Given the description of an element on the screen output the (x, y) to click on. 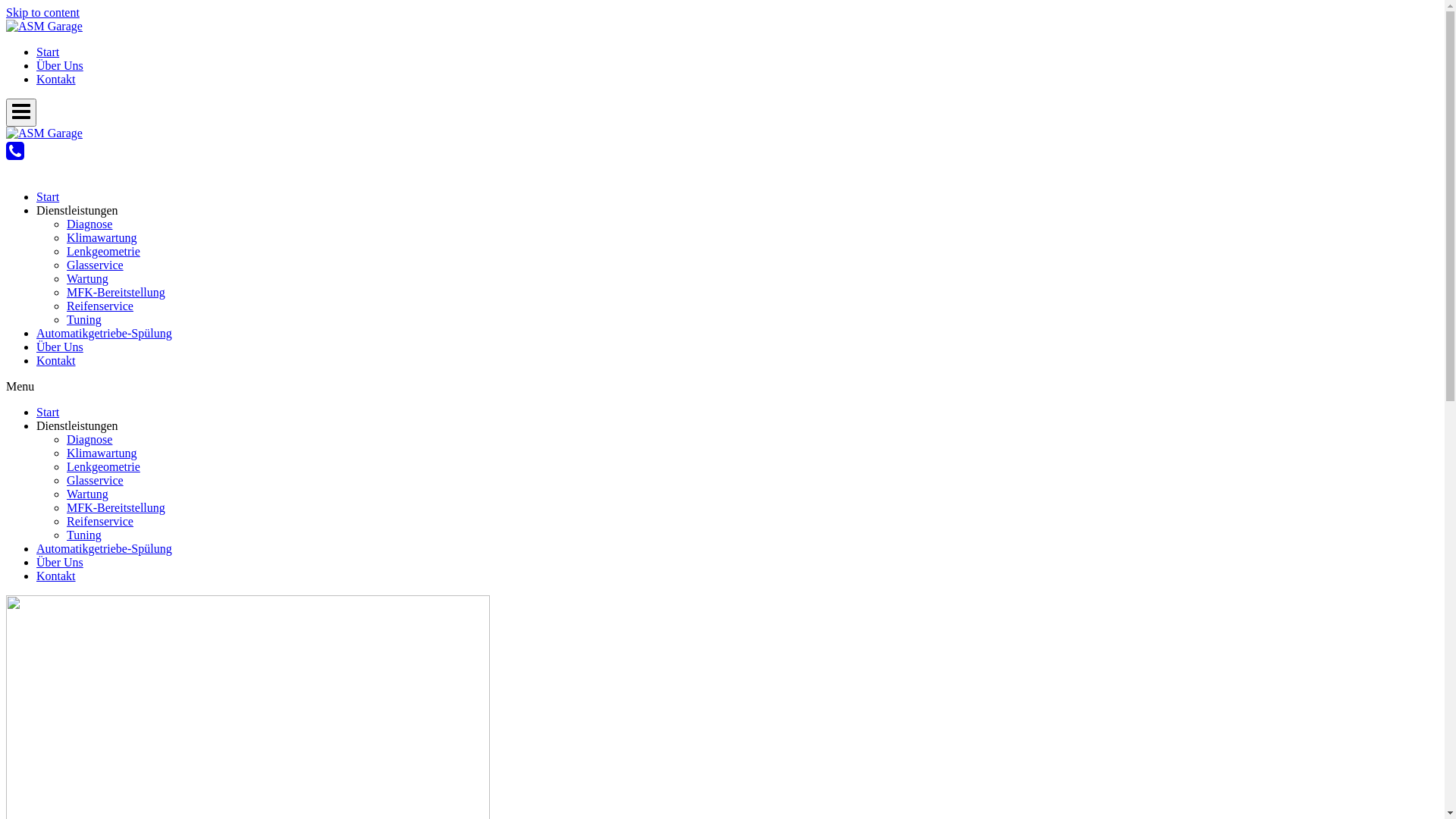
MFK-Bereitstellung Element type: text (115, 291)
Reifenservice Element type: text (99, 520)
Diagnose Element type: text (89, 223)
Kontakt Element type: text (55, 78)
Diagnose Element type: text (89, 439)
Dienstleistungen Element type: text (77, 425)
Phone Element type: text (15, 156)
Wartung Element type: text (87, 278)
Reifenservice Element type: text (99, 305)
Lenkgeometrie Element type: text (103, 250)
Tuning Element type: text (83, 319)
Klimawartung Element type: text (101, 452)
Kontakt Element type: text (55, 360)
Klimawartung Element type: text (101, 237)
Start Element type: text (47, 411)
Wartung Element type: text (87, 493)
Start Element type: text (47, 196)
Toggle Menu Element type: text (21, 112)
Glasservice Element type: text (94, 479)
Glasservice Element type: text (94, 264)
Skip to content Element type: text (42, 12)
Dienstleistungen Element type: text (77, 209)
Tuning Element type: text (83, 534)
Kontakt Element type: text (55, 575)
Lenkgeometrie Element type: text (103, 466)
MFK-Bereitstellung Element type: text (115, 507)
Start Element type: text (47, 51)
